Given the description of an element on the screen output the (x, y) to click on. 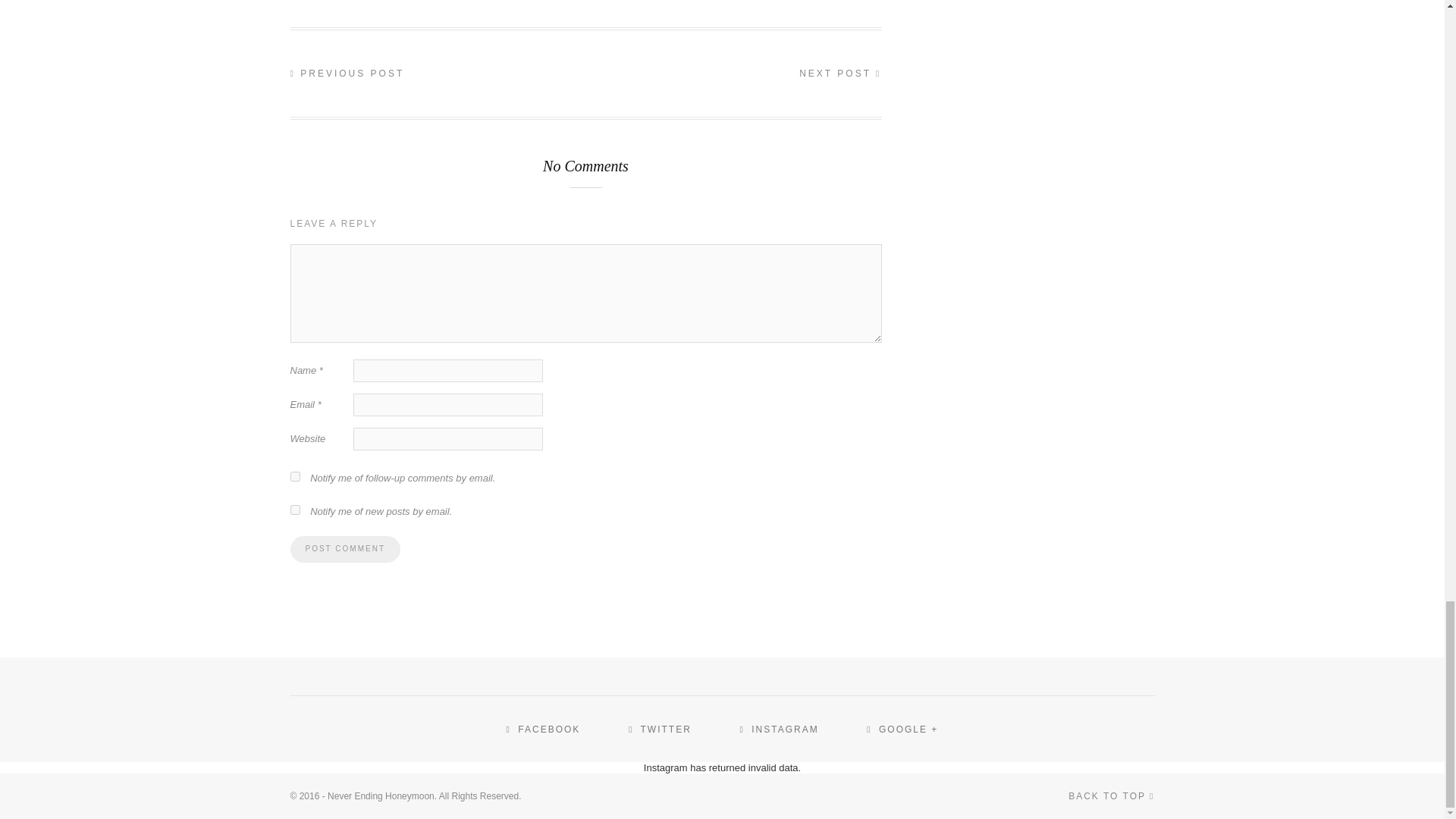
Post Comment (343, 549)
subscribe (294, 510)
subscribe (294, 476)
